Given the description of an element on the screen output the (x, y) to click on. 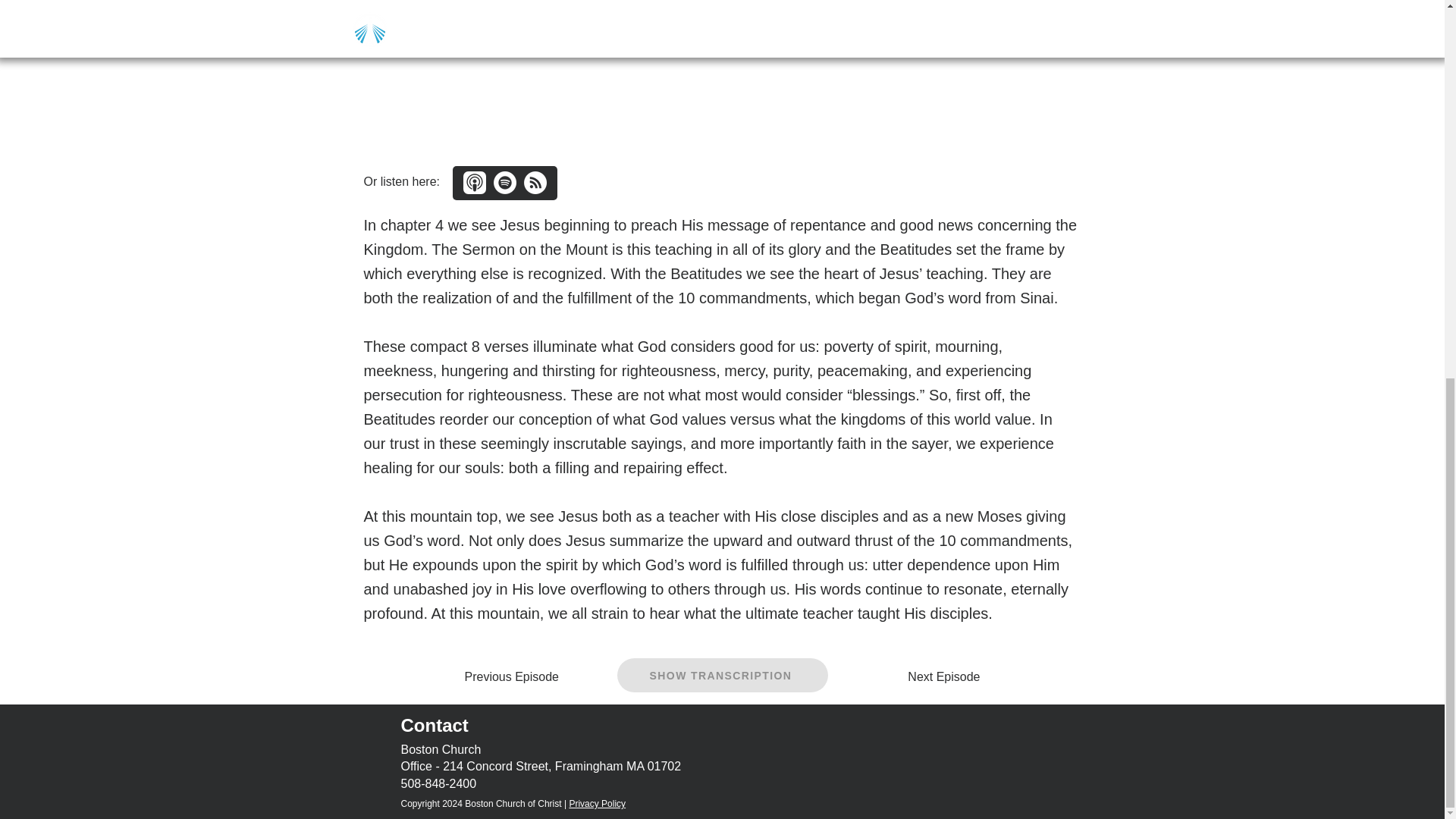
Previous Episode (516, 676)
SHOW TRANSCRIPTION (722, 675)
Contact (433, 724)
Privacy Policy (597, 803)
Next Episode (937, 676)
